Given the description of an element on the screen output the (x, y) to click on. 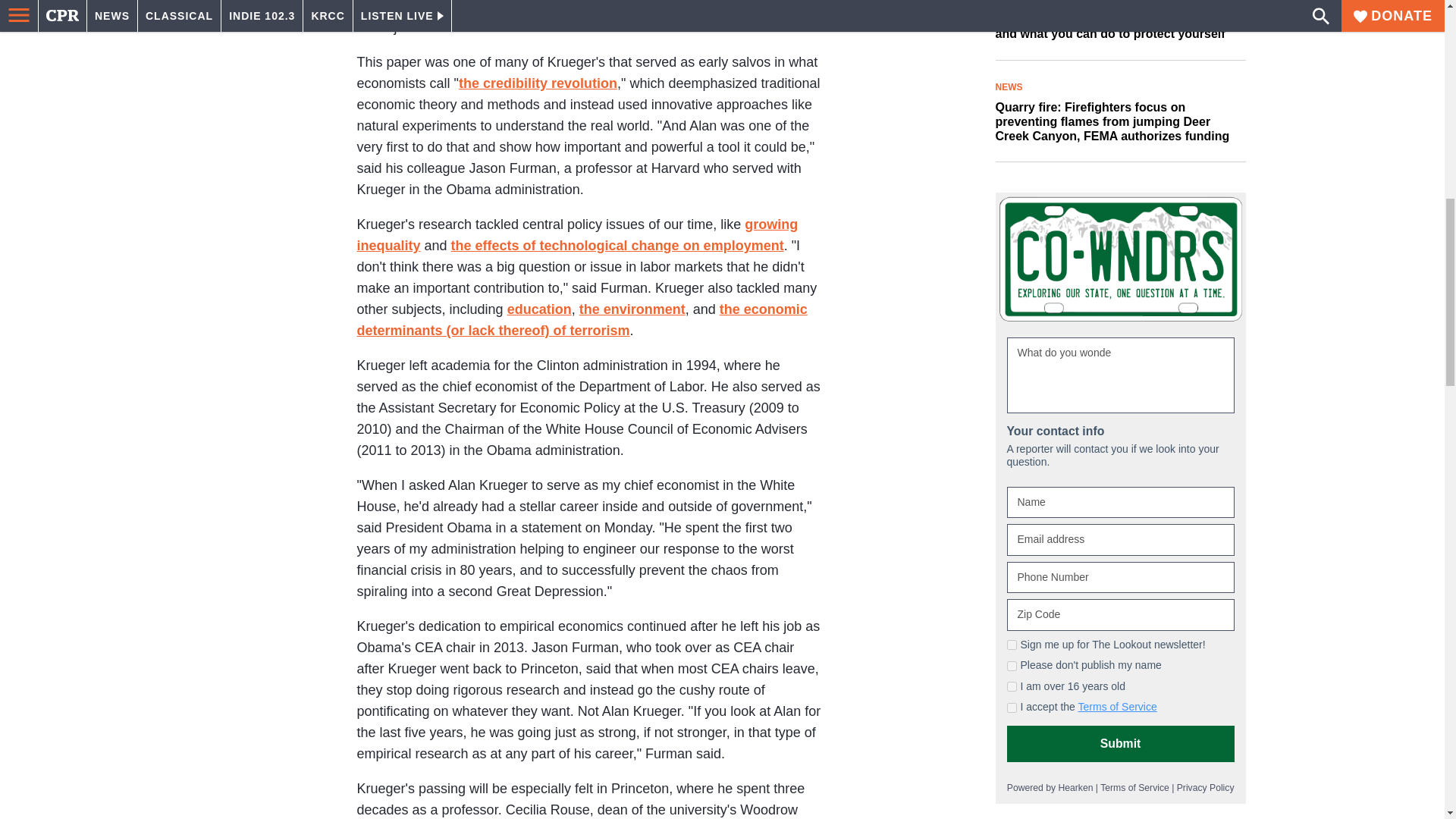
on (1011, 665)
on (1011, 644)
on (1011, 707)
on (1011, 686)
